Given the description of an element on the screen output the (x, y) to click on. 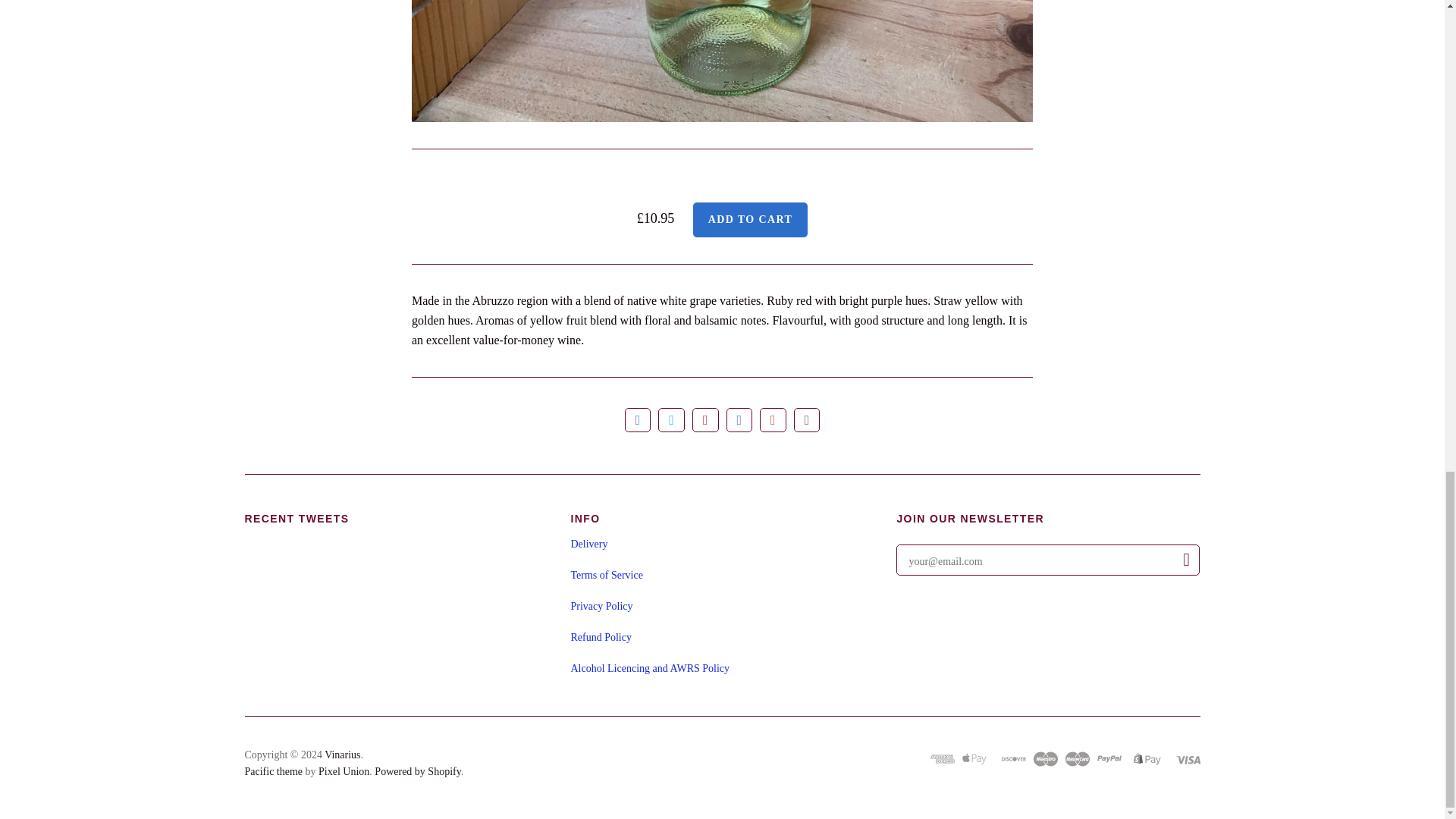
Terms of Service (606, 574)
Refund Policy (600, 636)
Privacy Policy (600, 605)
Alcohol Licensing and AWRS Due Diligence Policy (649, 668)
Add to cart (750, 218)
Delivery Information (588, 543)
